Given the description of an element on the screen output the (x, y) to click on. 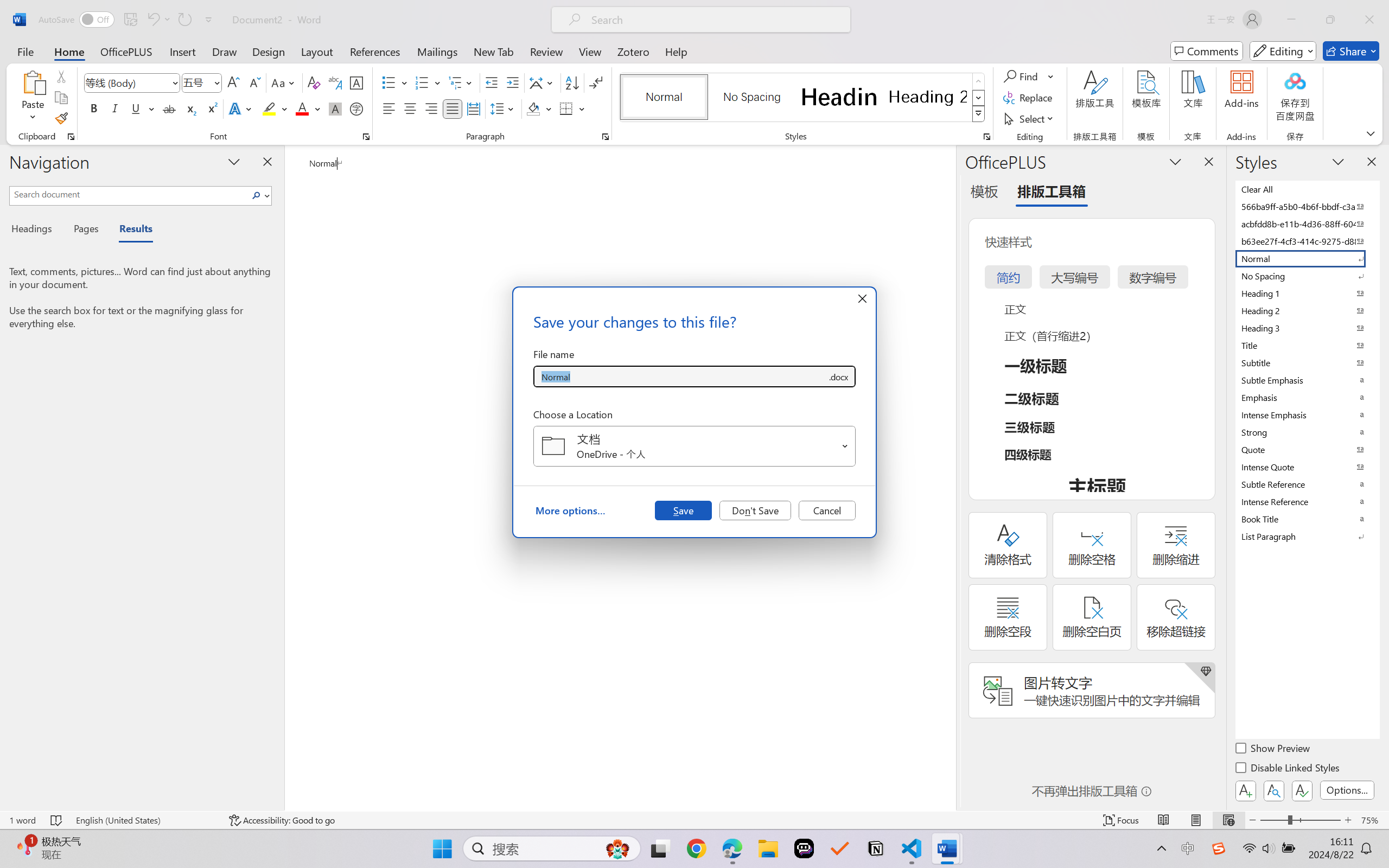
Microsoft search (715, 19)
OfficePLUS (126, 51)
Shading (539, 108)
Search (256, 195)
Bold (94, 108)
Row up (978, 81)
Superscript (210, 108)
Title (1306, 345)
Task Pane Options (1175, 161)
